Given the description of an element on the screen output the (x, y) to click on. 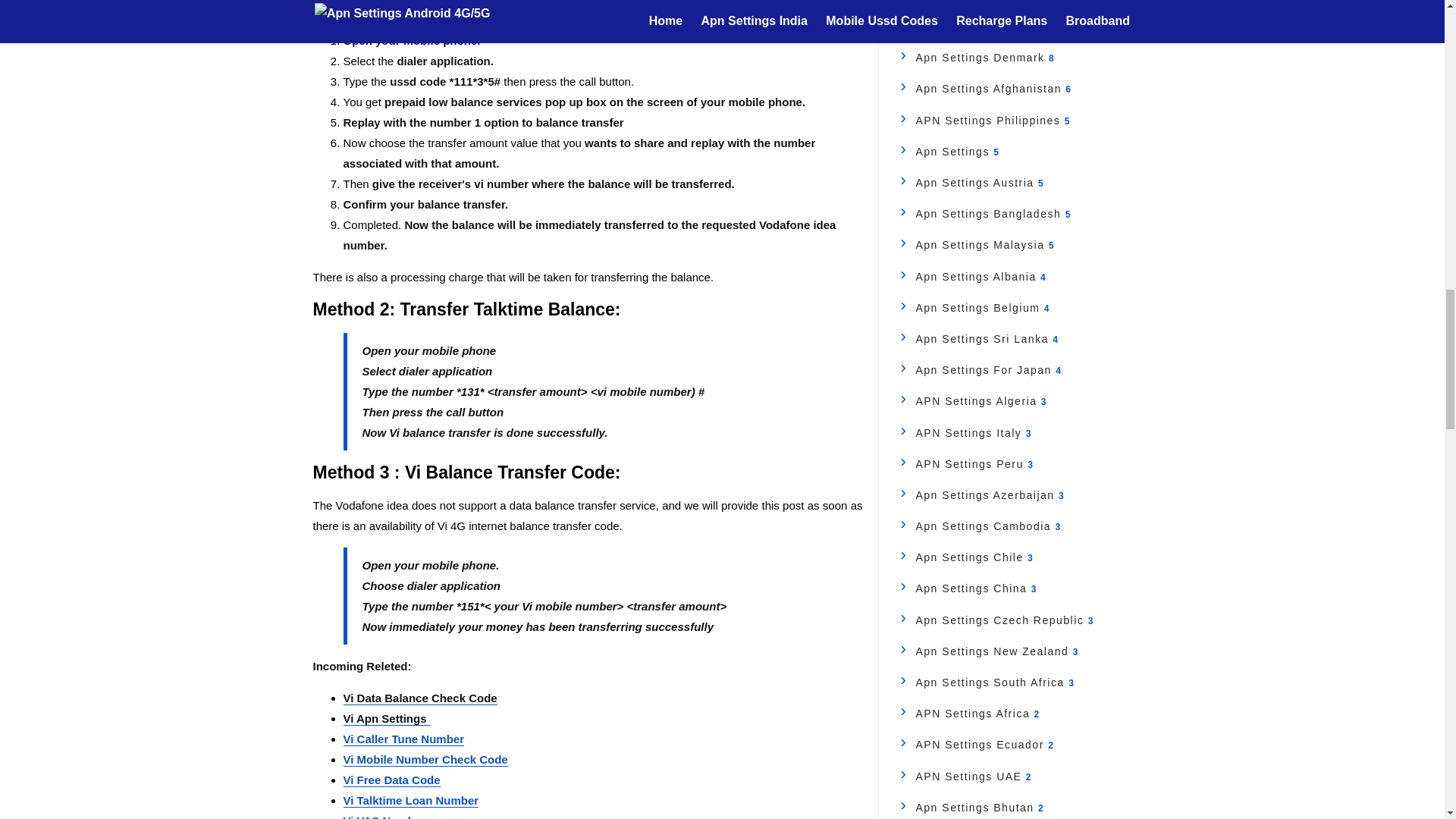
Vi Data Balance Check Code (419, 698)
Vi Free Data Code (390, 780)
Vi VAS Number (383, 816)
Vi Apn Settings  (385, 718)
Vi Caller Tune Number (403, 739)
Vi Talktime Loan Number (410, 800)
Vi Mobile Number Check Code (424, 759)
